Given the description of an element on the screen output the (x, y) to click on. 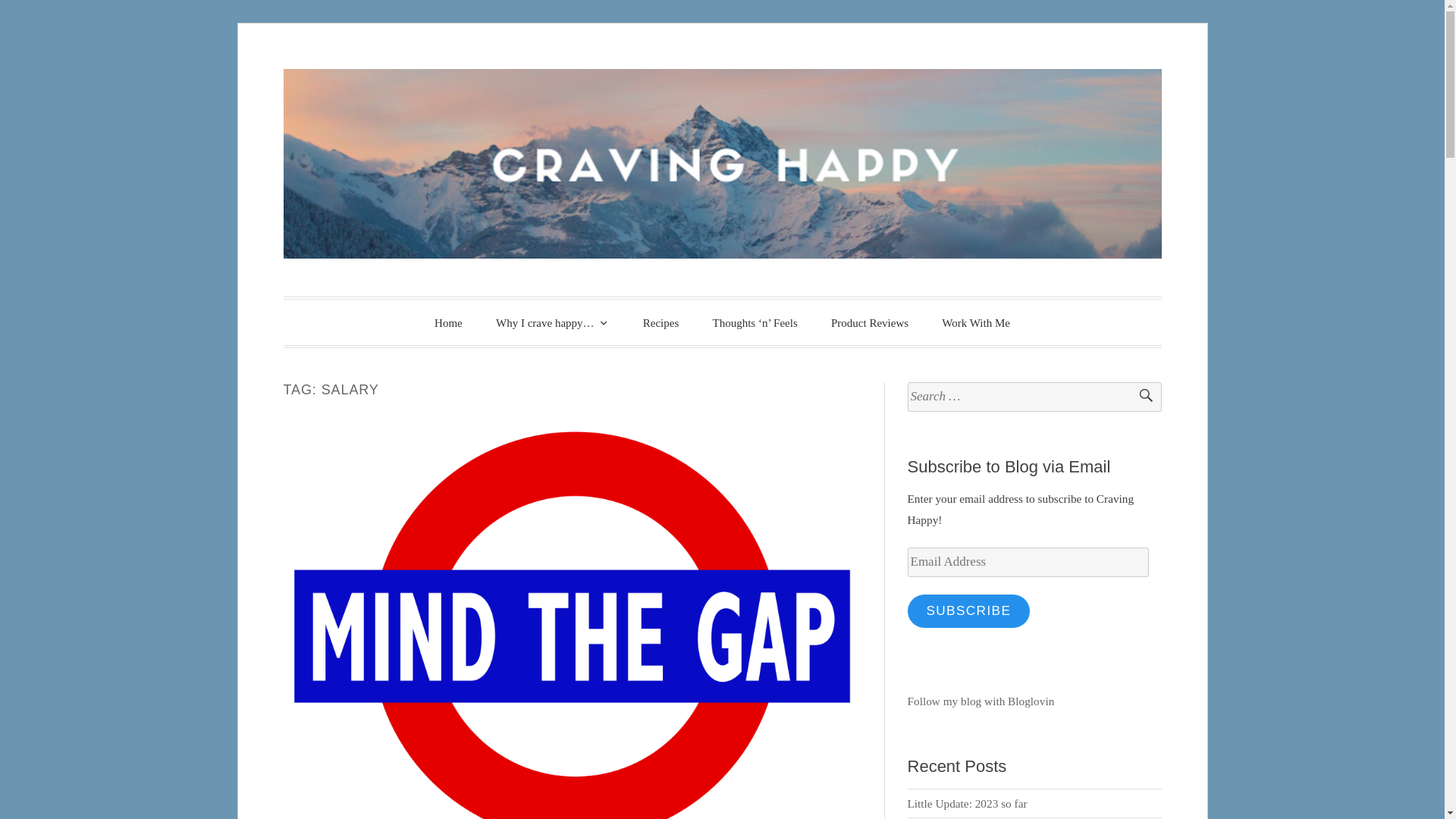
SUBSCRIBE (968, 611)
Follow my blog with Bloglovin (980, 700)
Home (448, 323)
Search (1138, 396)
Search (1138, 396)
Work With Me (975, 323)
Search (1138, 396)
Little Update: 2023 so far (967, 802)
Product Reviews (869, 323)
Recipes (660, 323)
Craving Happy (471, 320)
